Given the description of an element on the screen output the (x, y) to click on. 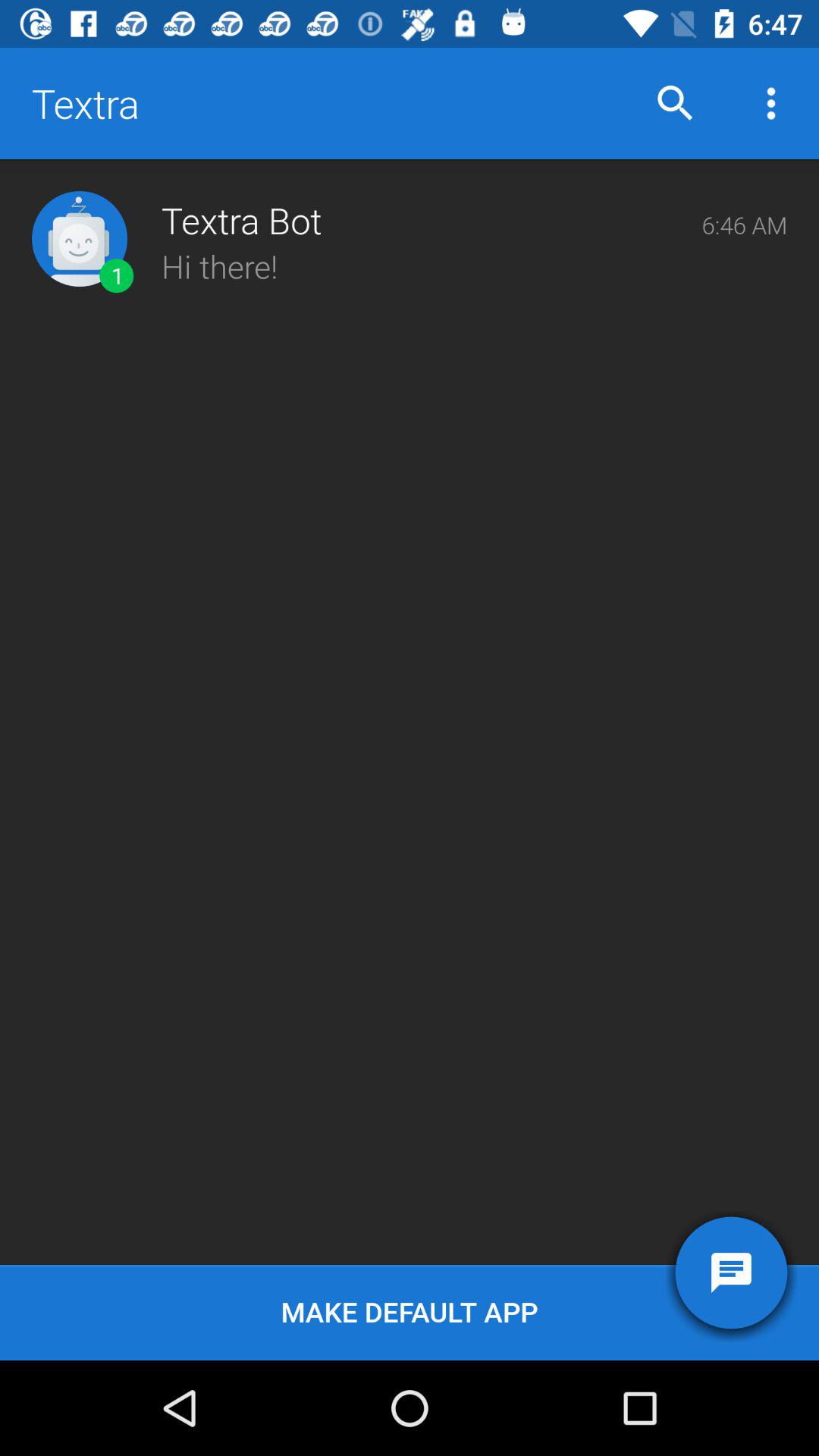
tap the item next to the make default app icon (731, 1272)
